Given the description of an element on the screen output the (x, y) to click on. 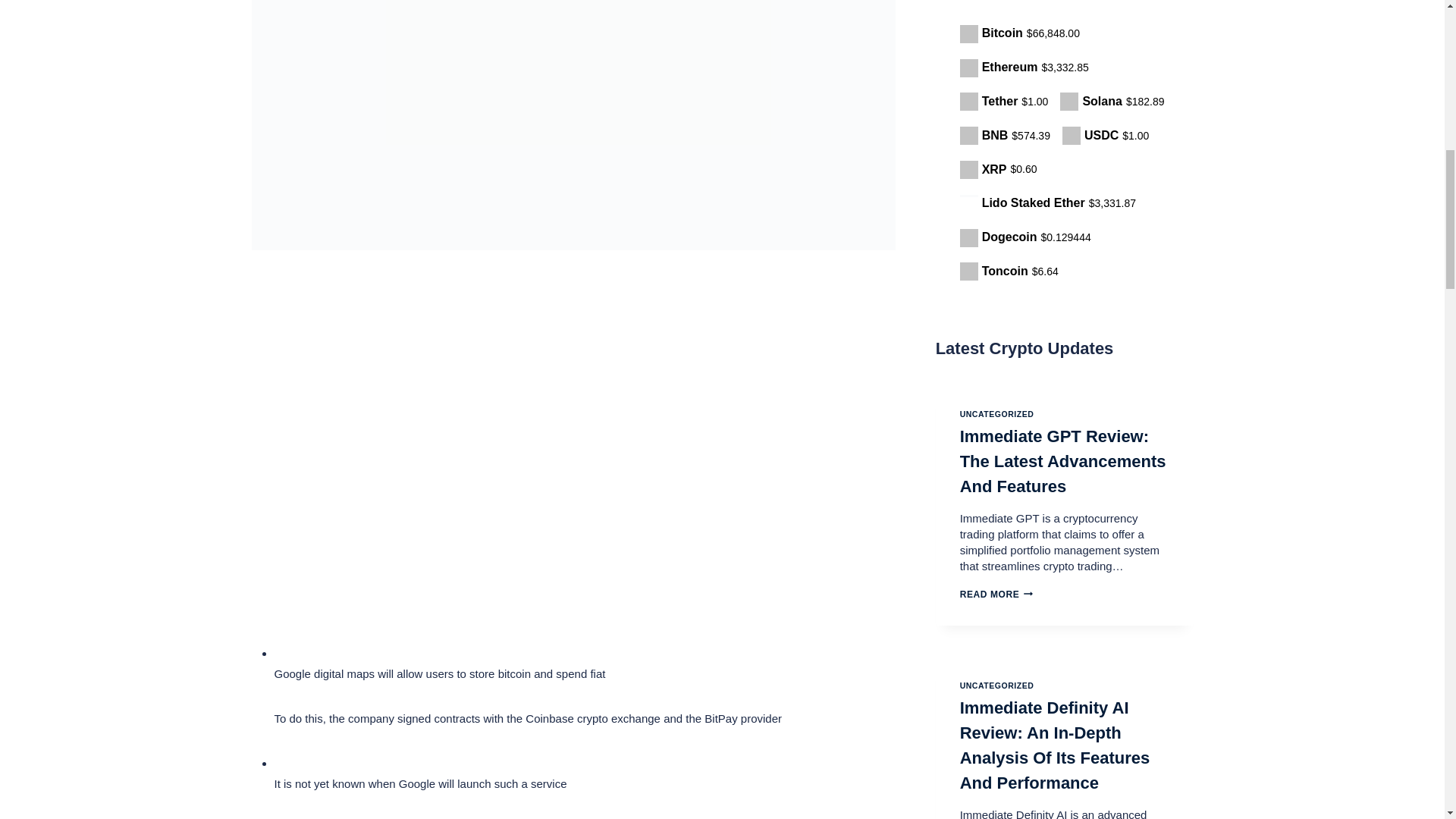
UNCATEGORIZED (996, 413)
Immediate GPT Review: The Latest Advancements And Features (1062, 461)
UNCATEGORIZED (996, 685)
